Given the description of an element on the screen output the (x, y) to click on. 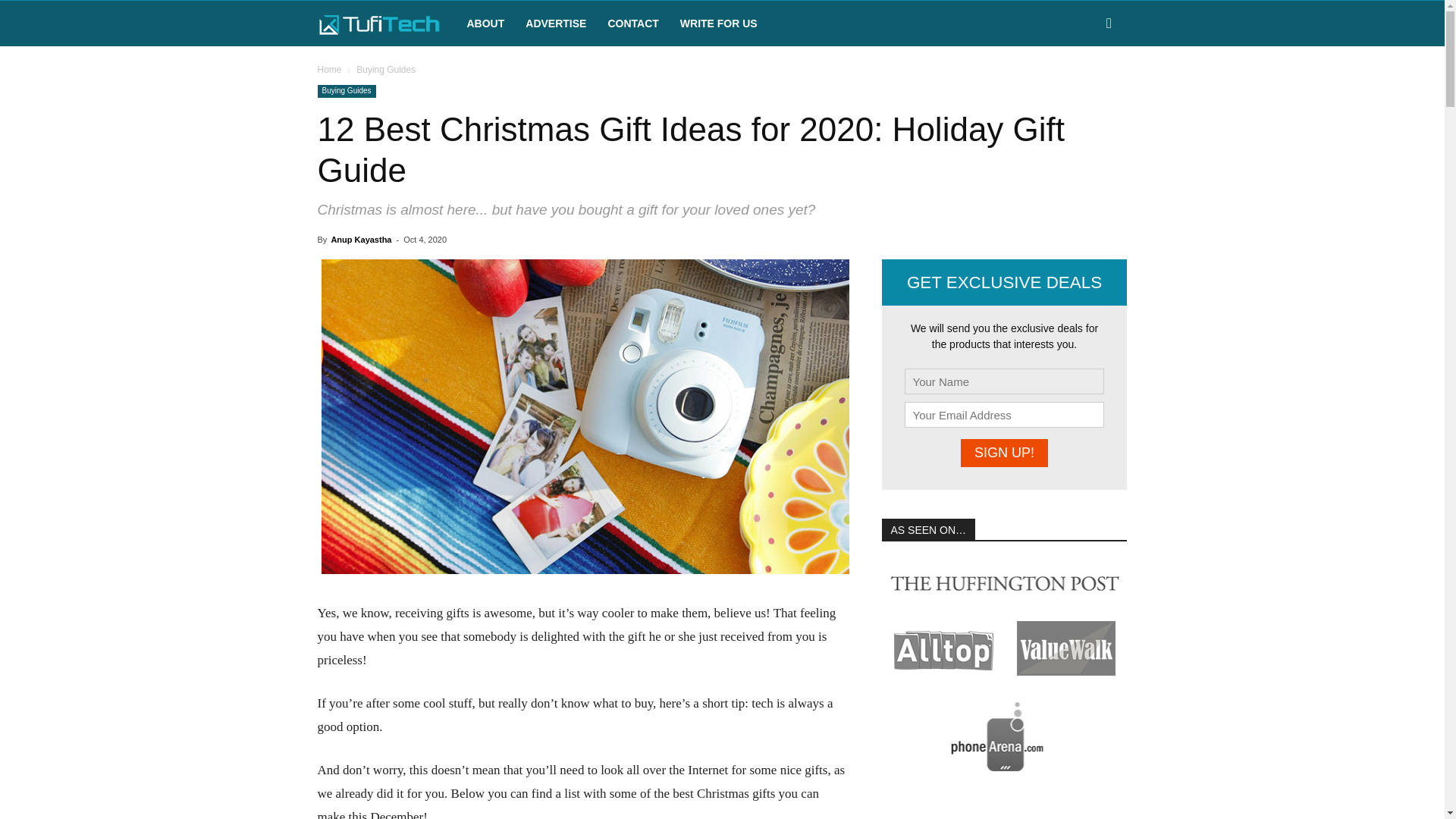
Search (1085, 88)
Welcome to TufiTech! (379, 23)
Buying Guides (346, 91)
ADVERTISE (555, 22)
Contact us (632, 22)
CONTACT (632, 22)
TufiTech (386, 23)
ABOUT (486, 22)
WRITE FOR US (718, 22)
Anup Kayastha (360, 239)
